Given the description of an element on the screen output the (x, y) to click on. 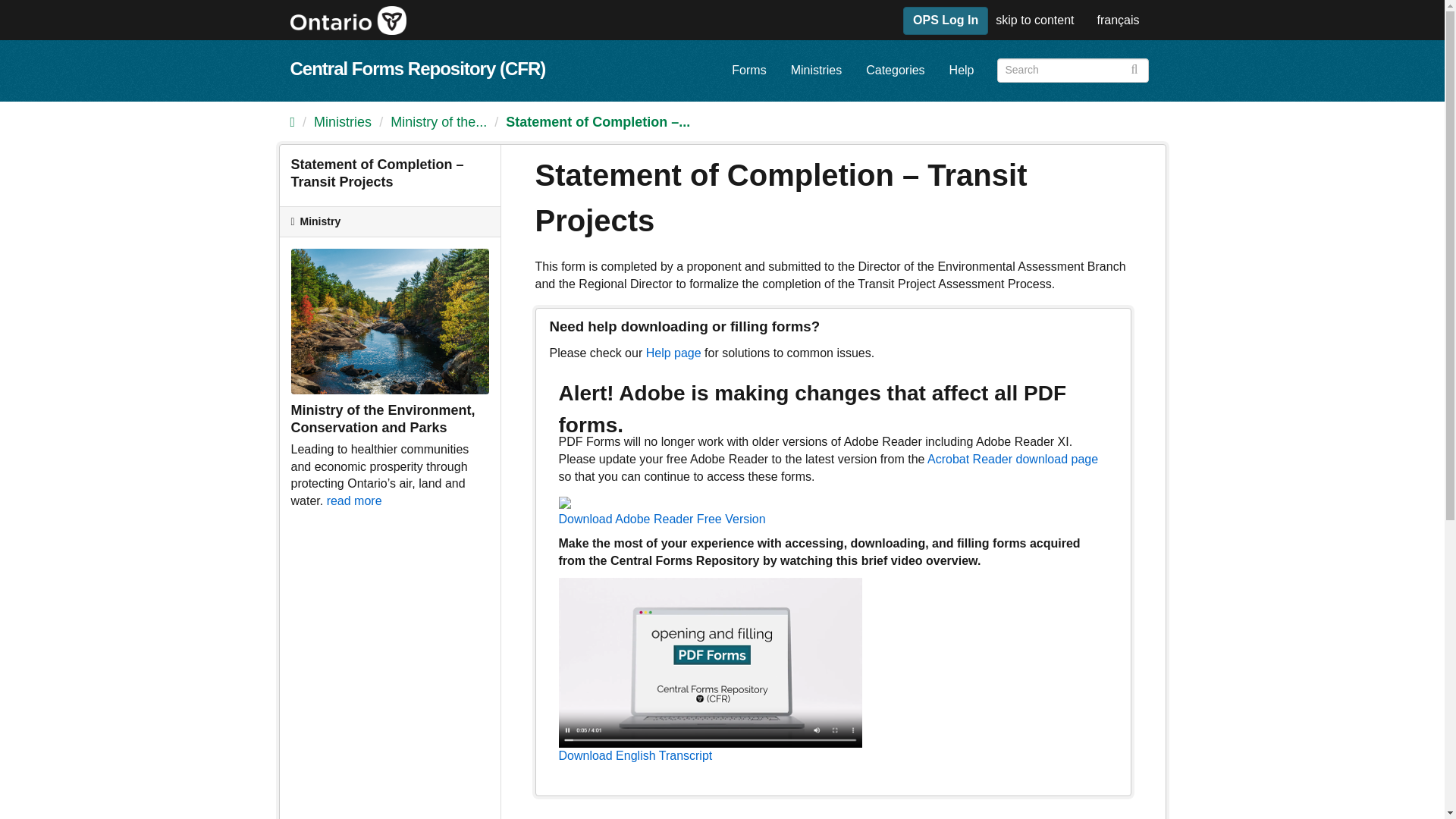
Acrobat Reader download page (1012, 459)
skip to content (1034, 19)
Ministry of the... (438, 121)
Forms (748, 70)
Download Adobe Reader Free Version (661, 510)
Categories (895, 70)
Help page (673, 352)
Ministries (815, 70)
OPS Log In (945, 20)
Ministries (342, 121)
